Given the description of an element on the screen output the (x, y) to click on. 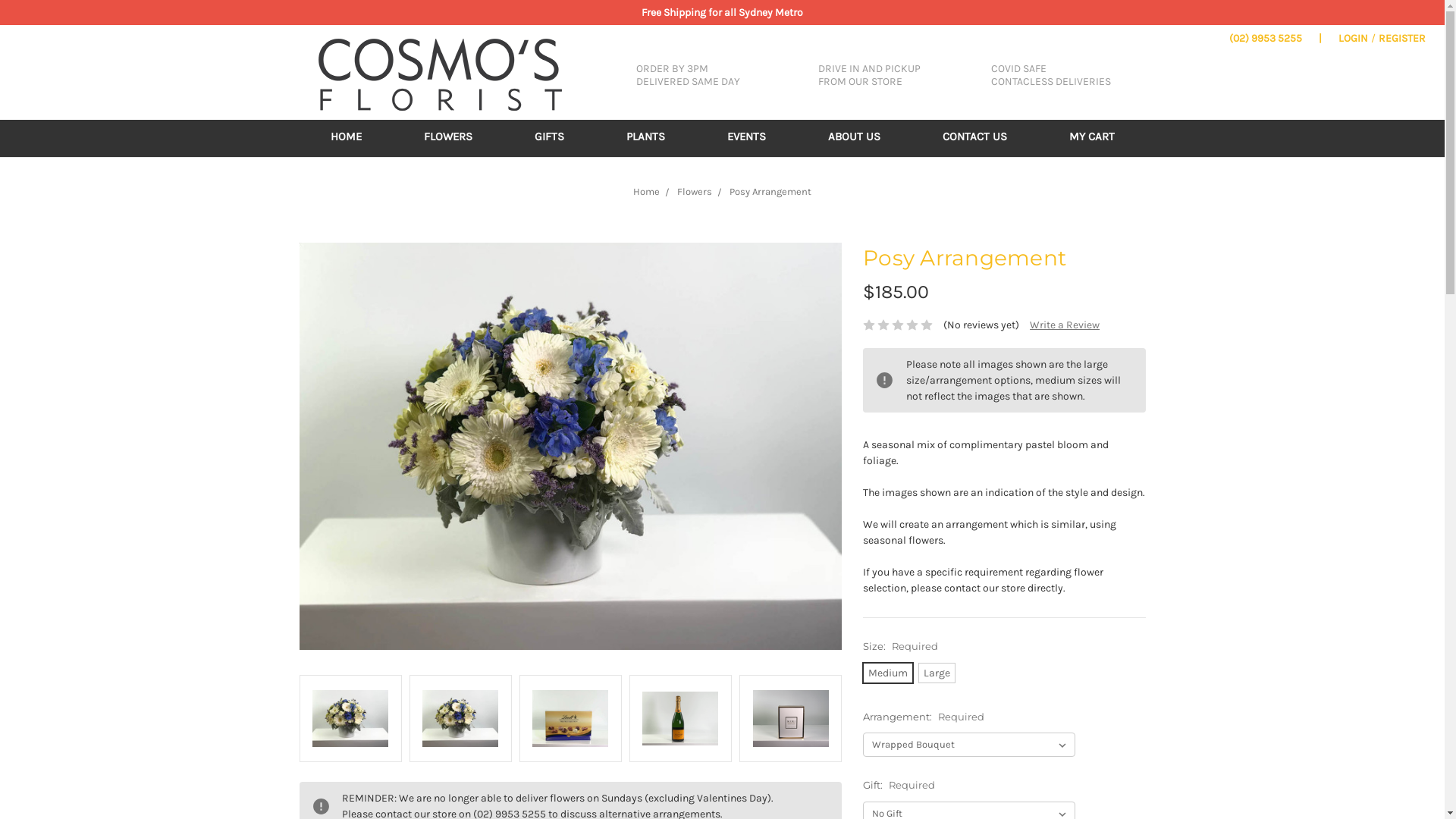
ABOUT US Element type: text (853, 137)
CONTACT US Element type: text (973, 137)
Posy Arrangement Element type: hover (350, 718)
Posy Arrangement Element type: hover (460, 718)
Posy Arrangement Element type: hover (790, 718)
ORDER BY 3PM
DELIVERED SAME DAY Element type: text (681, 75)
EVENTS Element type: text (745, 137)
(02) 9953 5255 Element type: text (1265, 38)
DRIVE IN AND PICKUP
FROM OUR STORE Element type: text (862, 75)
GIFTS Element type: text (548, 137)
Posy Arrangement Element type: hover (680, 718)
Posy Arrangement Element type: hover (569, 445)
PLANTS Element type: text (645, 137)
FLOWERS Element type: text (447, 137)
Free Shipping for all Sydney Metro Element type: text (722, 12)
Flowers Element type: text (694, 191)
Posy Arrangement Element type: text (770, 191)
LOGIN Element type: text (1353, 38)
COVID SAFE
CONTACLESS DELIVERIES Element type: text (1044, 75)
REGISTER Element type: text (1402, 38)
Write a Review Element type: text (1064, 324)
Home Element type: text (646, 191)
MY CART Element type: text (1091, 137)
| Element type: text (1320, 38)
Cosmos Florist Element type: hover (439, 73)
HOME Element type: text (345, 137)
Posy Arrangement Element type: hover (570, 718)
